Given the description of an element on the screen output the (x, y) to click on. 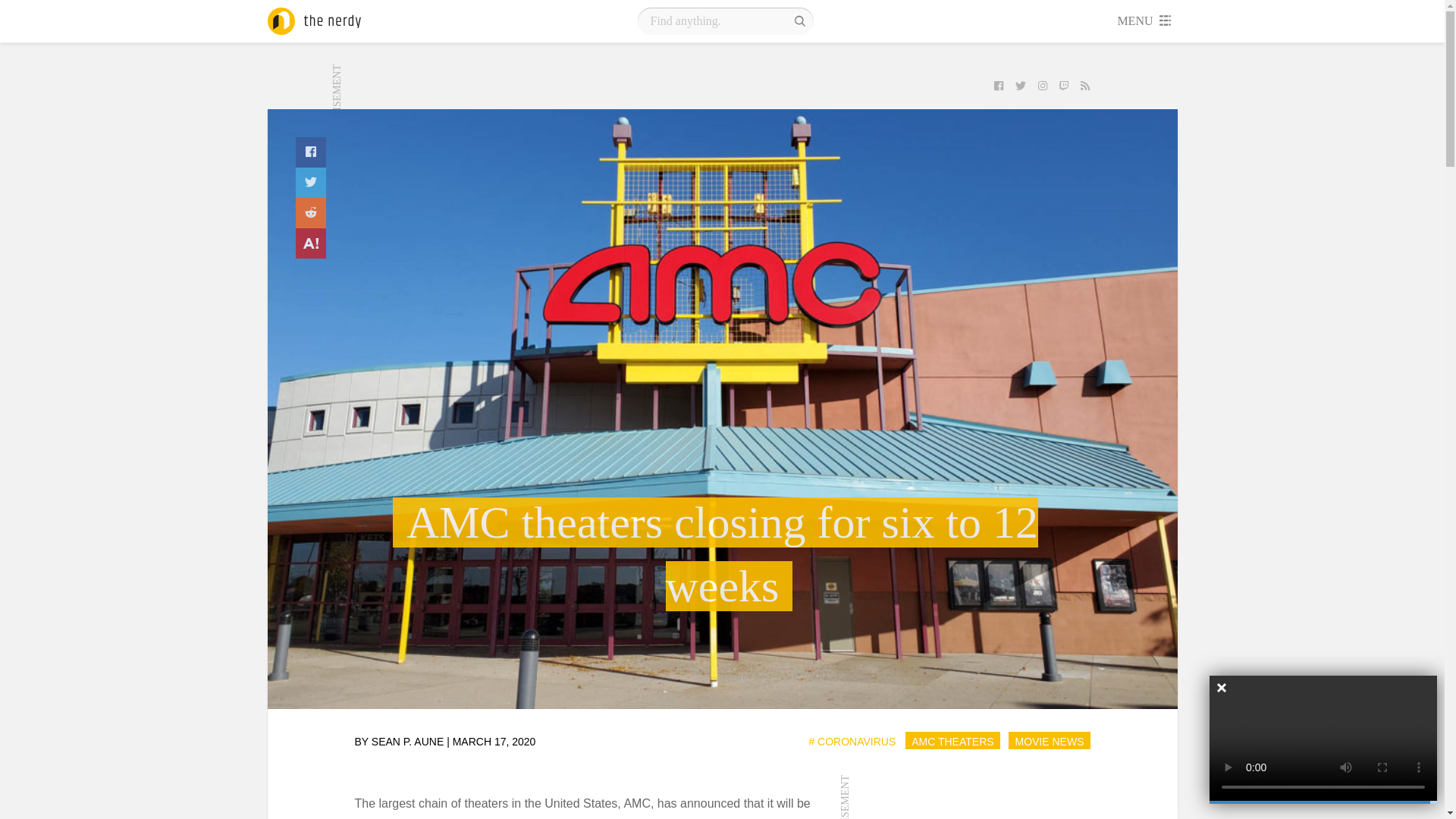
Submit to Reddit (310, 213)
Follow this story with AlertMe (310, 243)
MOVIE NEWS (1049, 741)
MENU (1145, 21)
Share on Facebook (310, 152)
AMC THEATERS (951, 741)
Share on Twitter (310, 182)
